Given the description of an element on the screen output the (x, y) to click on. 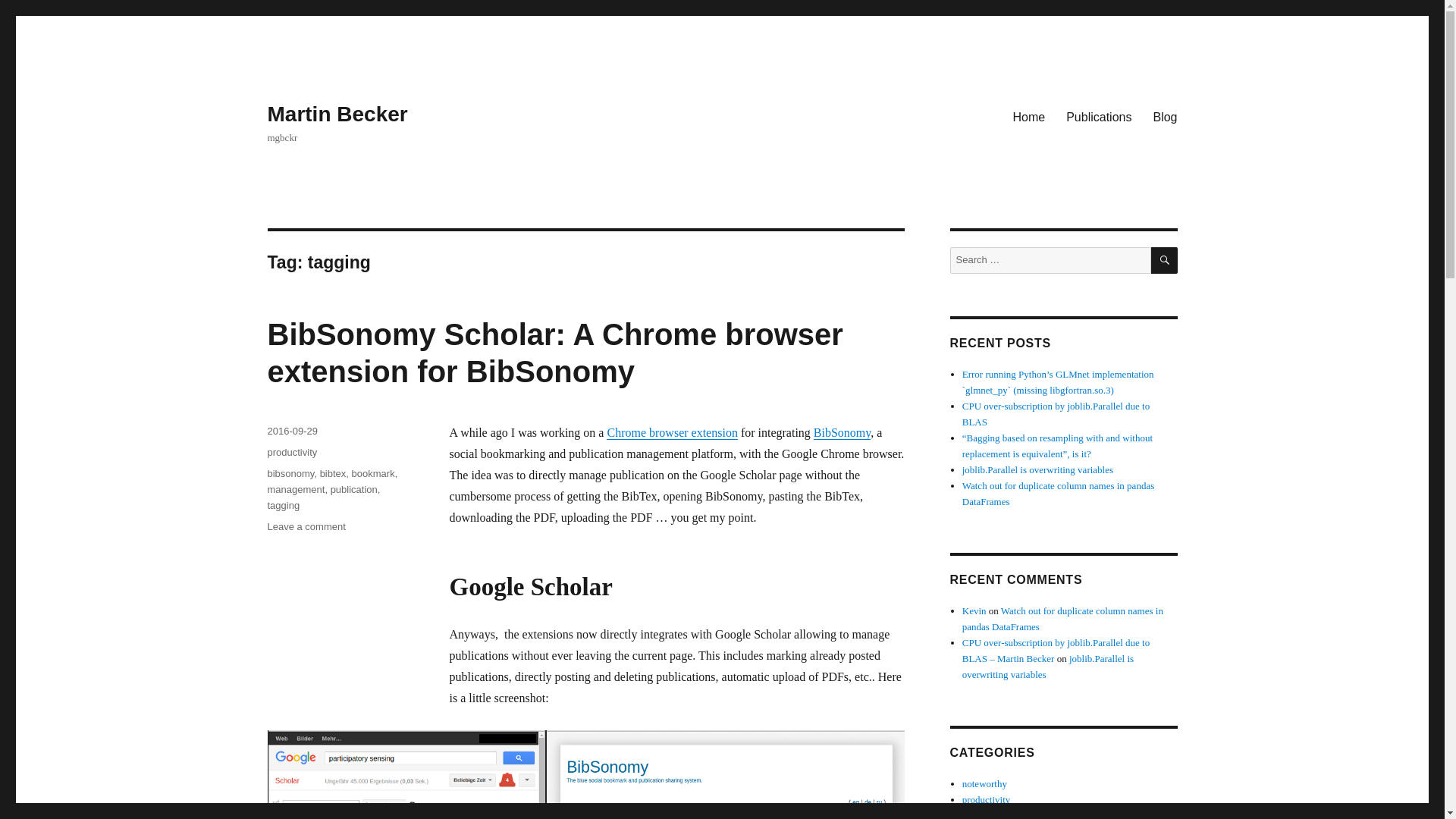
Blog (1164, 116)
CPU over-subscription by joblib.Parallel due to BLAS (1056, 413)
management (295, 489)
joblib.Parallel is overwriting variables (1037, 469)
productivity (291, 451)
Chrome browser extension (671, 431)
productivity (986, 799)
2016-09-29 (291, 430)
BibSonomy (841, 431)
bibsonomy (290, 473)
Watch out for duplicate column names in pandas DataFrames (1058, 492)
SEARCH (1164, 260)
noteworthy (984, 783)
publication (353, 489)
Martin Becker (336, 114)
